Given the description of an element on the screen output the (x, y) to click on. 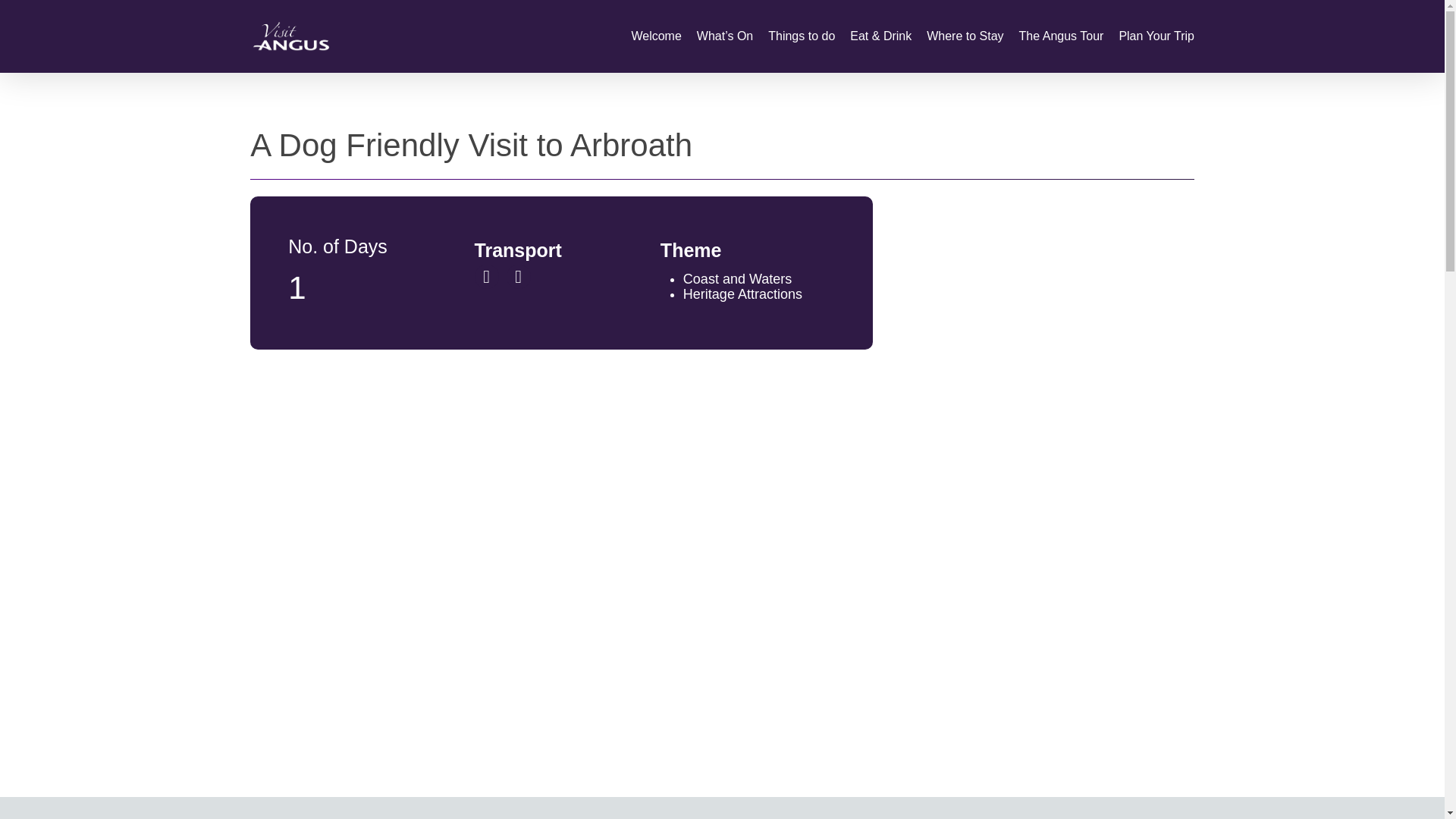
Welcome (655, 36)
Where to Stay (964, 36)
Things to do (801, 36)
